Given the description of an element on the screen output the (x, y) to click on. 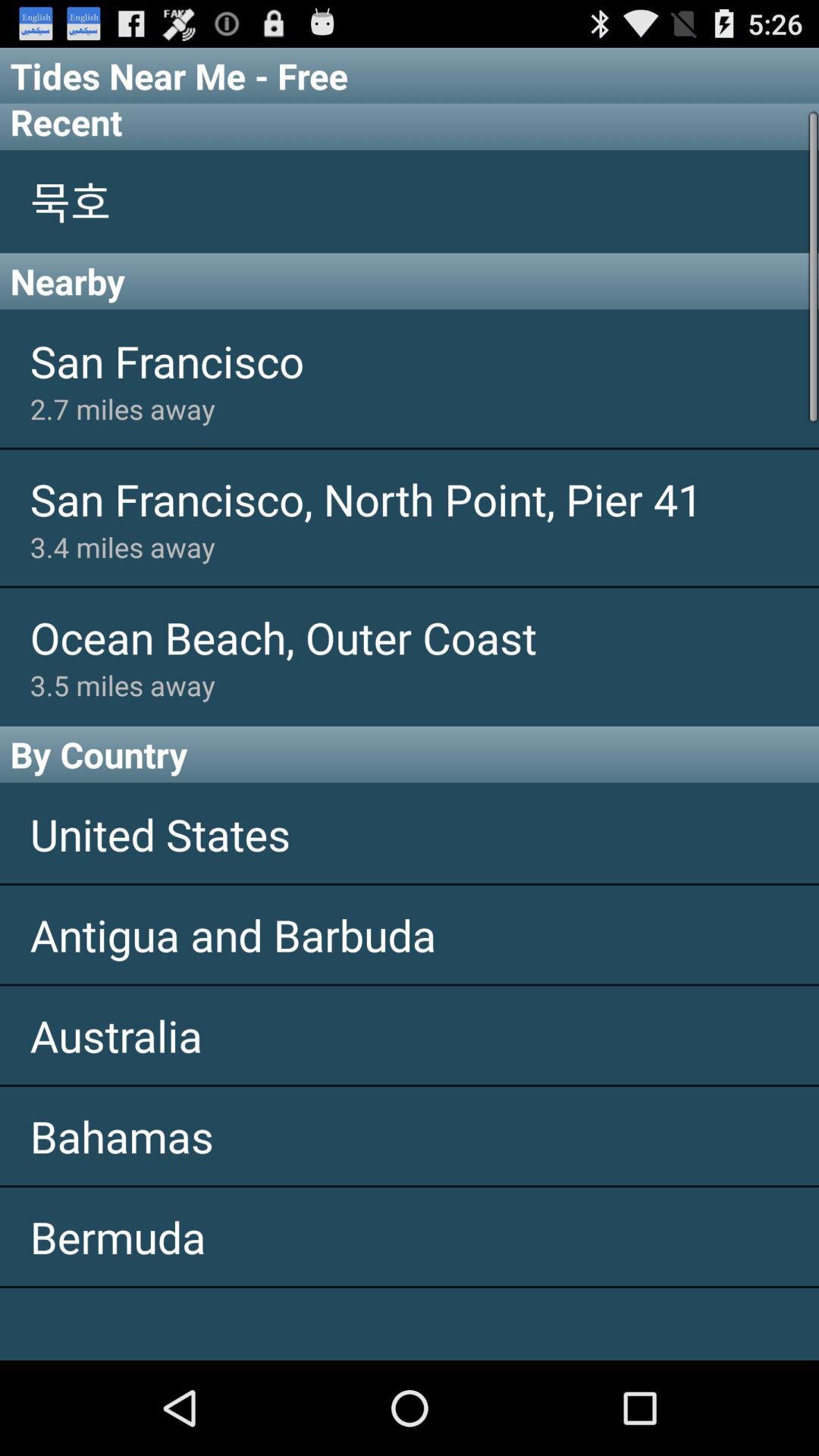
scroll to by country item (409, 754)
